Given the description of an element on the screen output the (x, y) to click on. 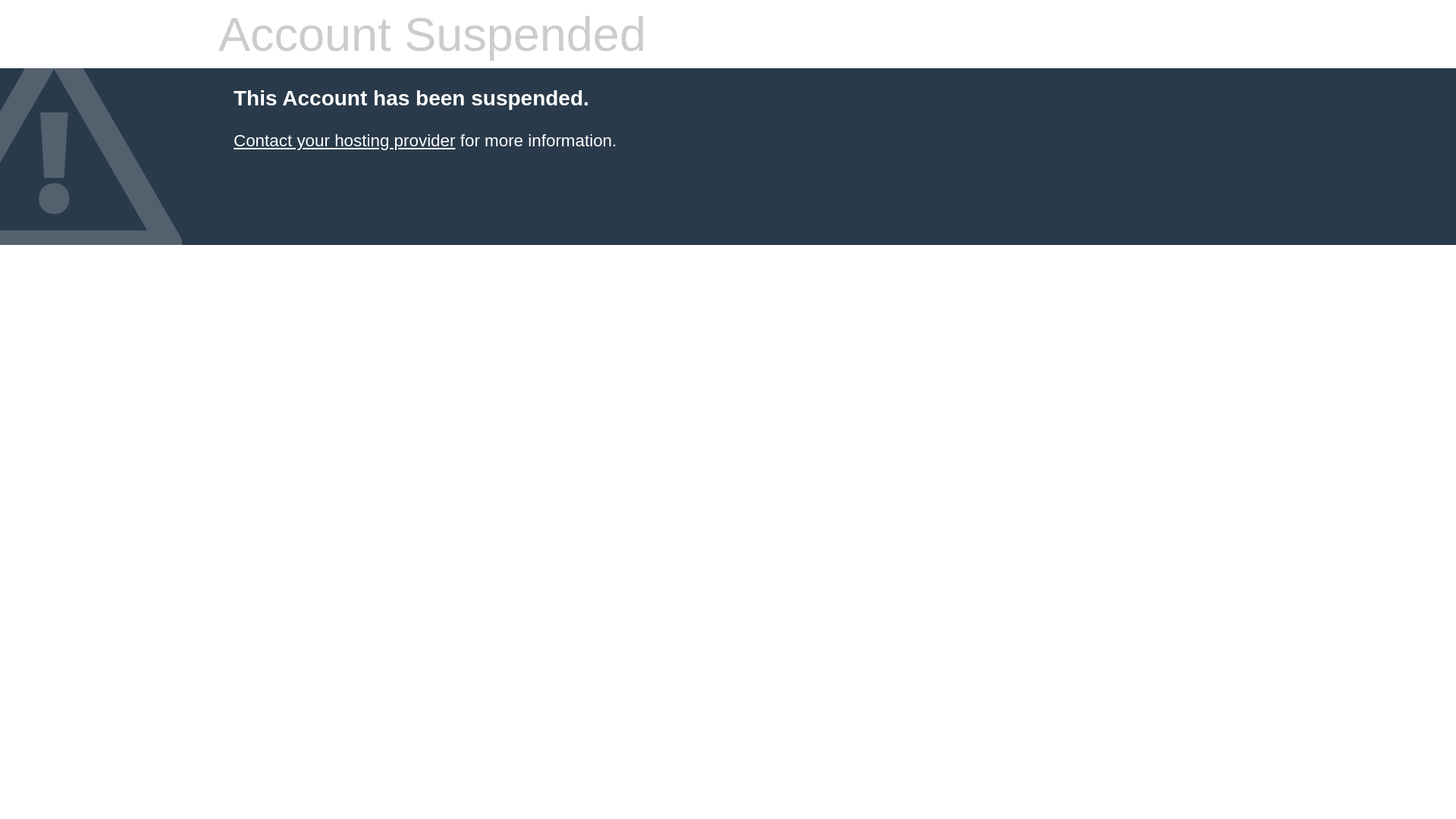
Contact your hosting provider Element type: text (344, 140)
